Given the description of an element on the screen output the (x, y) to click on. 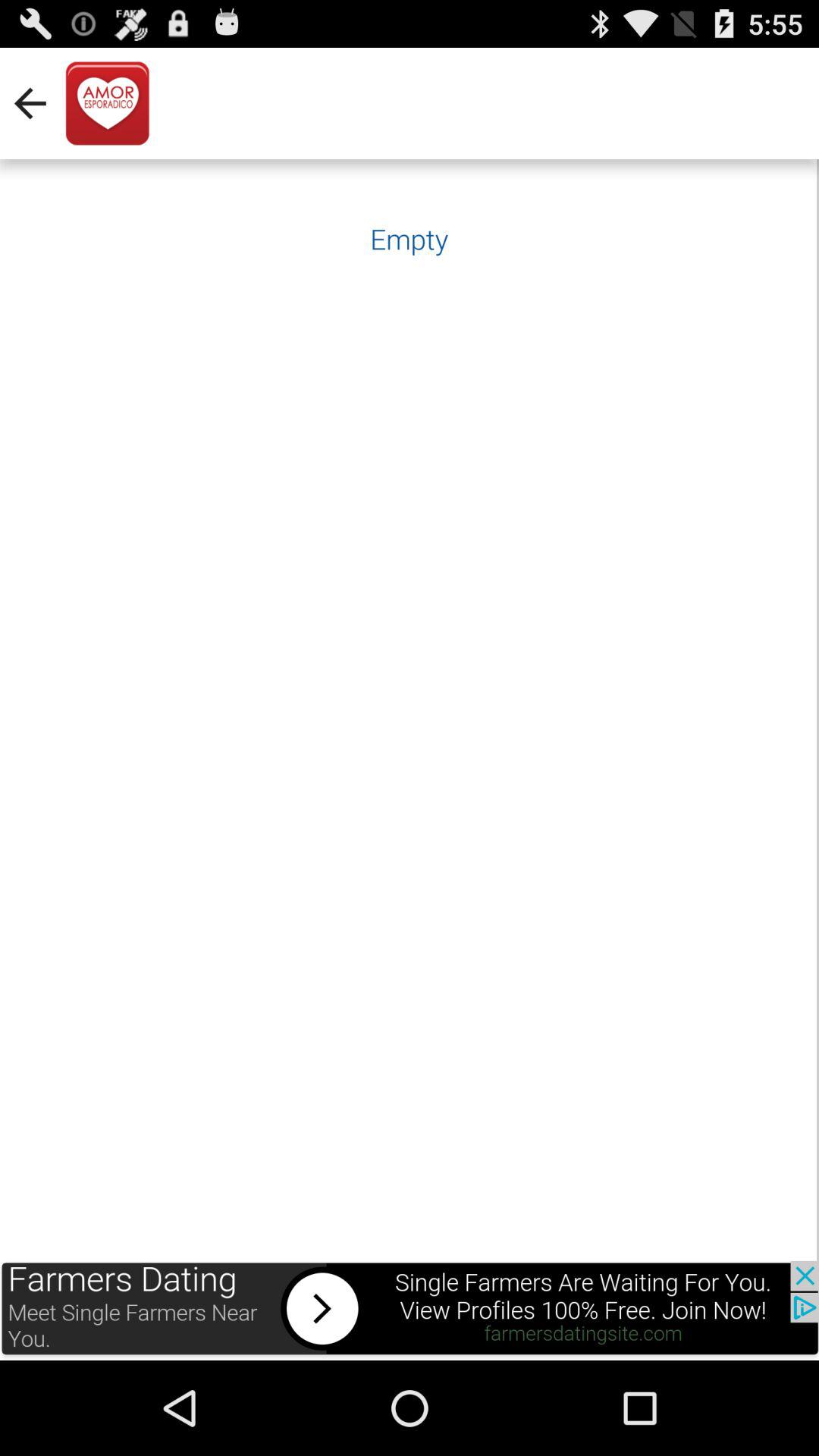
select advertisement (409, 1310)
